Given the description of an element on the screen output the (x, y) to click on. 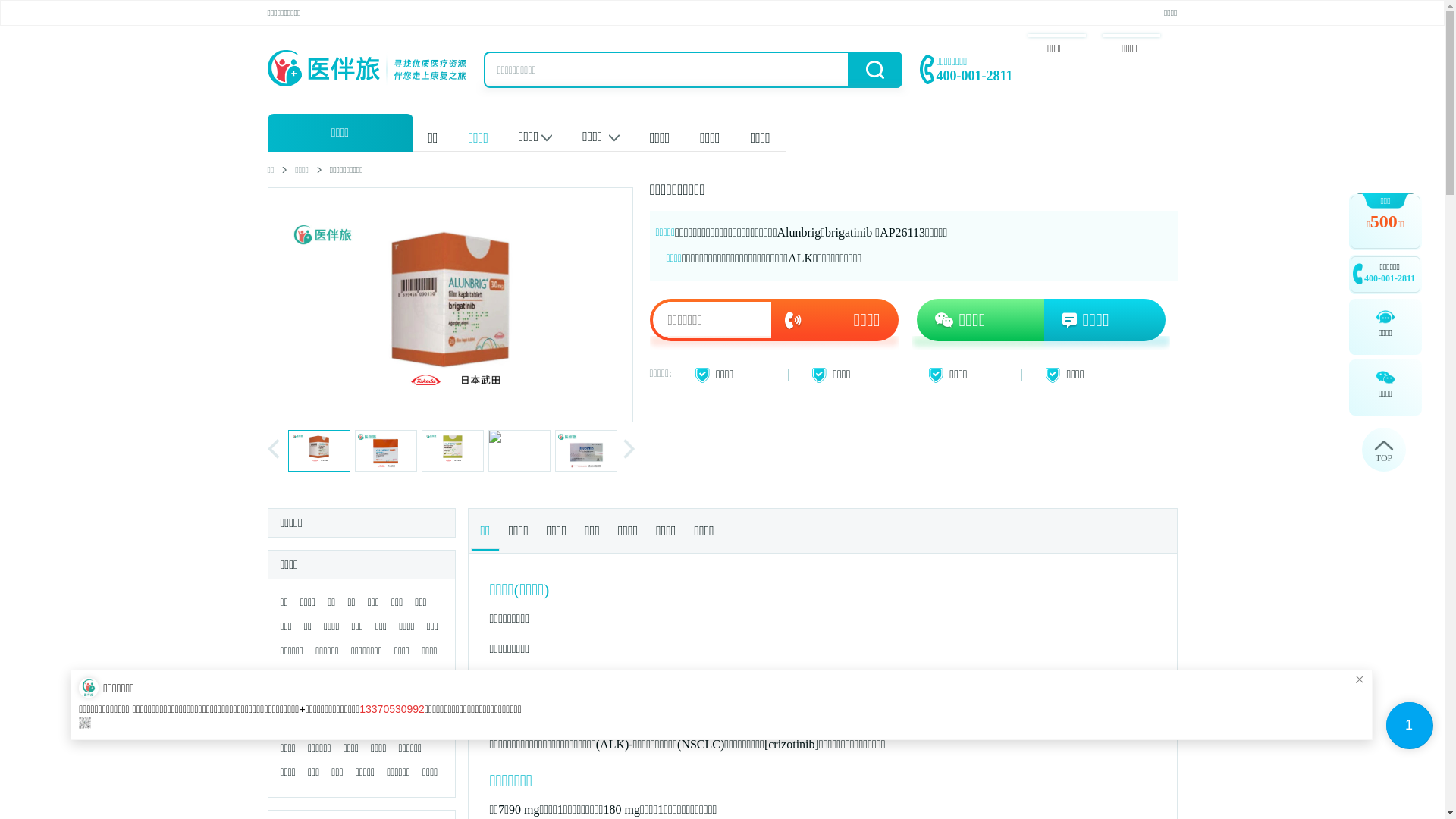
TOP Element type: text (1383, 449)
